Given the description of an element on the screen output the (x, y) to click on. 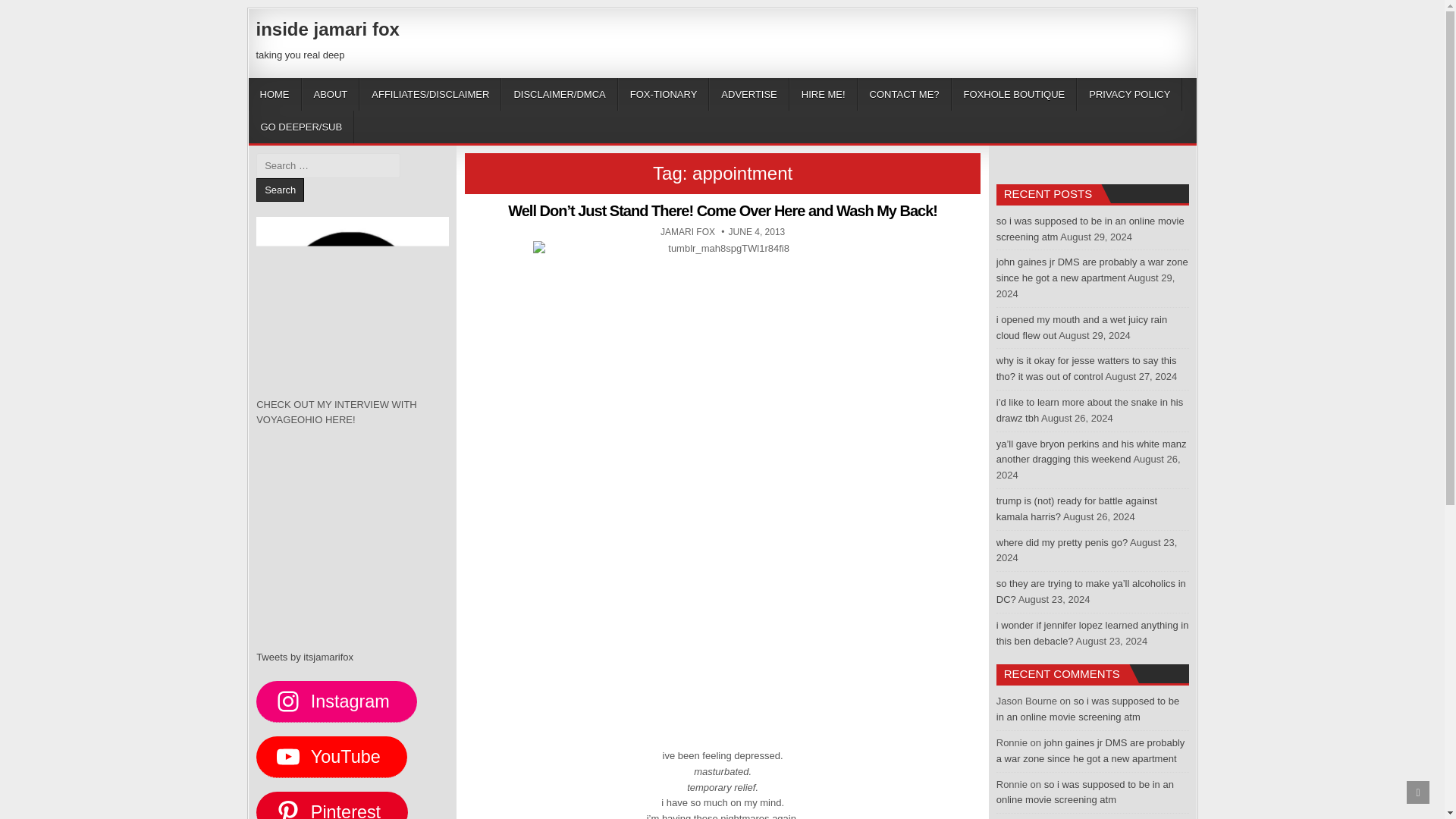
Pinterest (331, 805)
Search (280, 189)
Scroll to Top (1417, 792)
so i was supposed to be in an online movie screening atm (1090, 228)
inside jamari fox (327, 28)
ABOUT (330, 93)
ADVERTISE (749, 93)
YouTube (687, 231)
Tweets by itsjamarifox (331, 756)
